Given the description of an element on the screen output the (x, y) to click on. 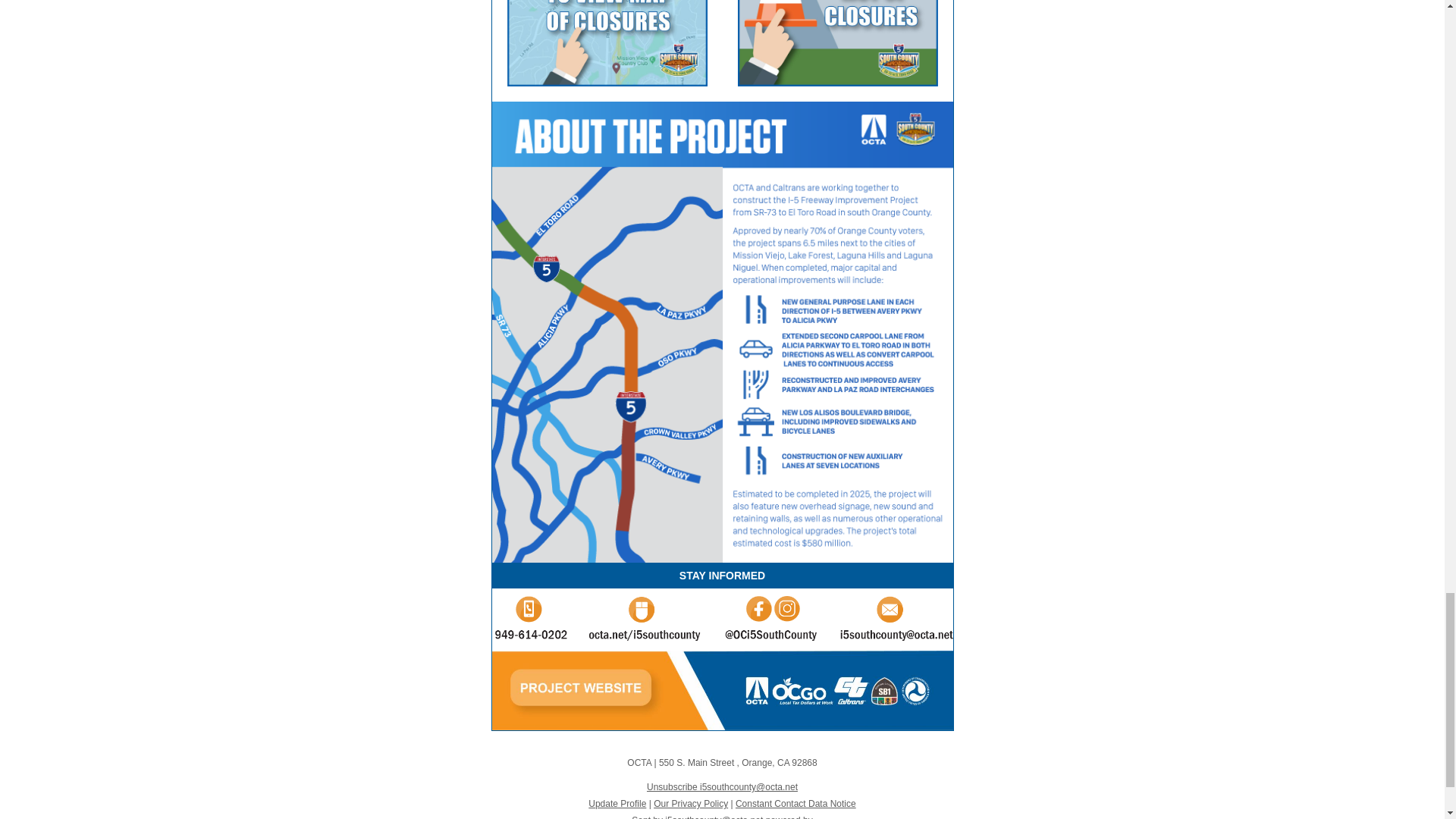
Update Profile (617, 803)
Constant Contact Data Notice (795, 803)
Our Privacy Policy (690, 803)
